Given the description of an element on the screen output the (x, y) to click on. 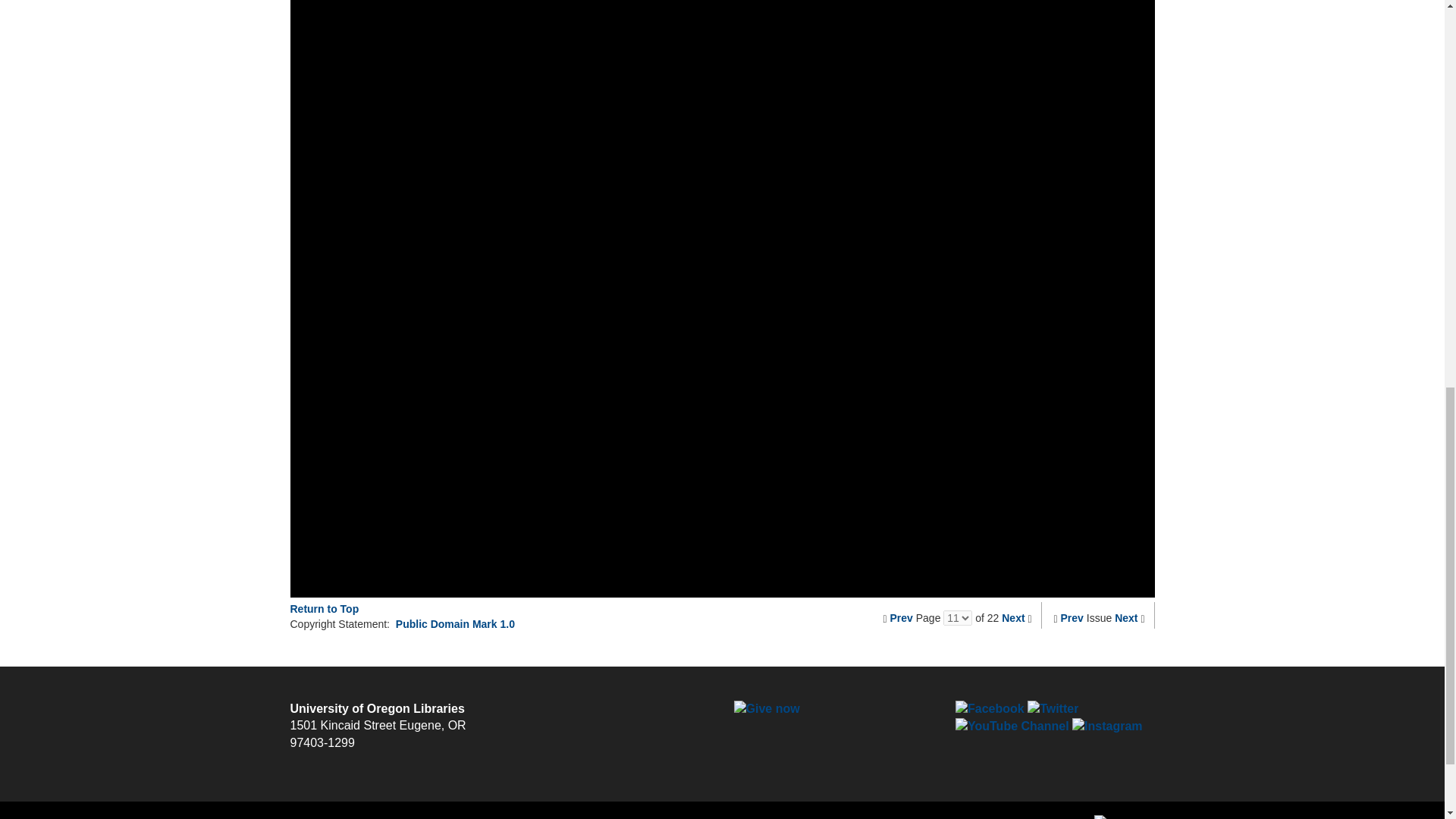
Next (1013, 617)
Prev (1072, 617)
Prev (900, 617)
Public Domain Mark 1.0 (455, 623)
Next (1126, 617)
Return to Top (323, 608)
